Given the description of an element on the screen output the (x, y) to click on. 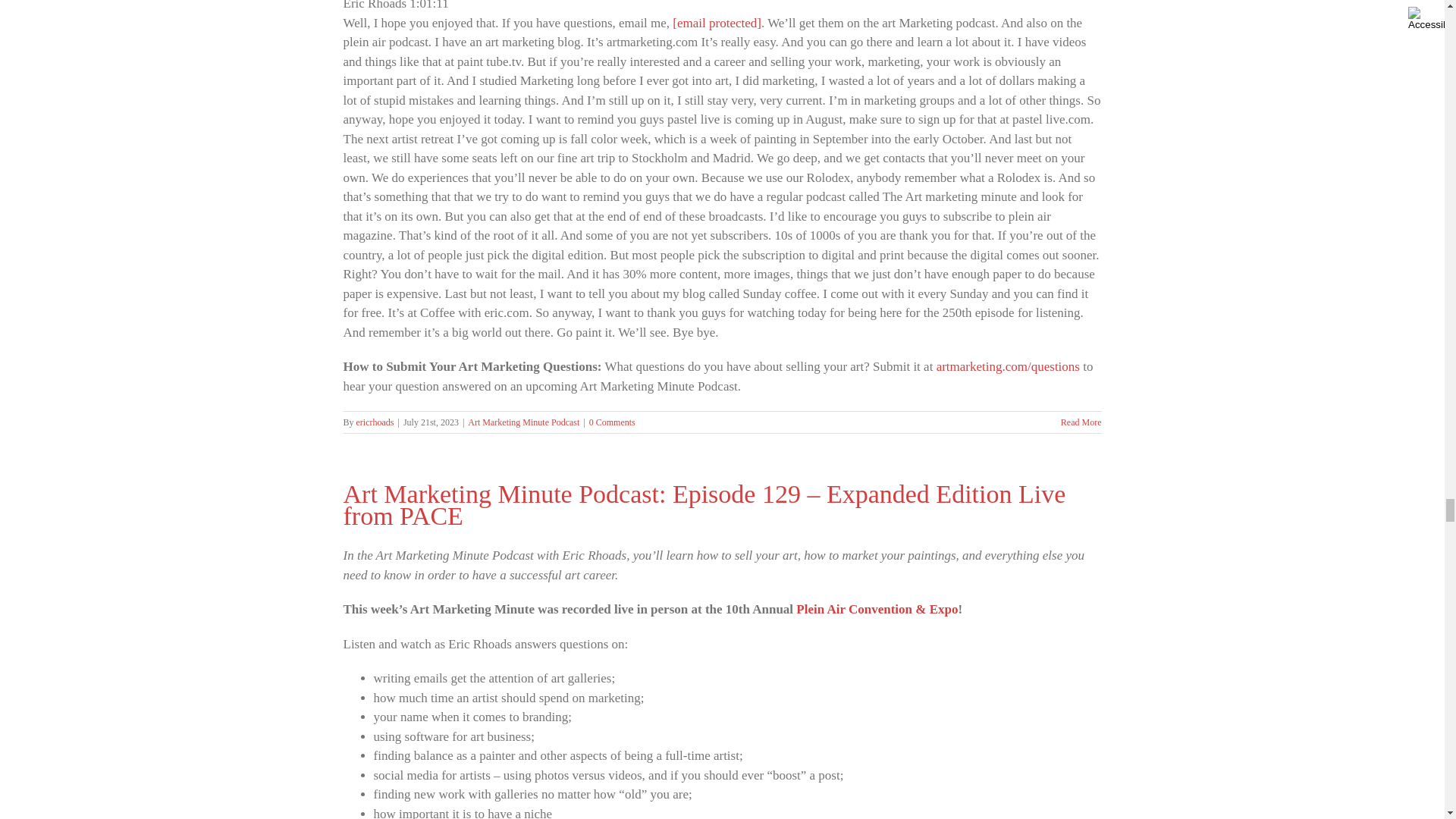
Posts by ericrhoads (375, 421)
